Given the description of an element on the screen output the (x, y) to click on. 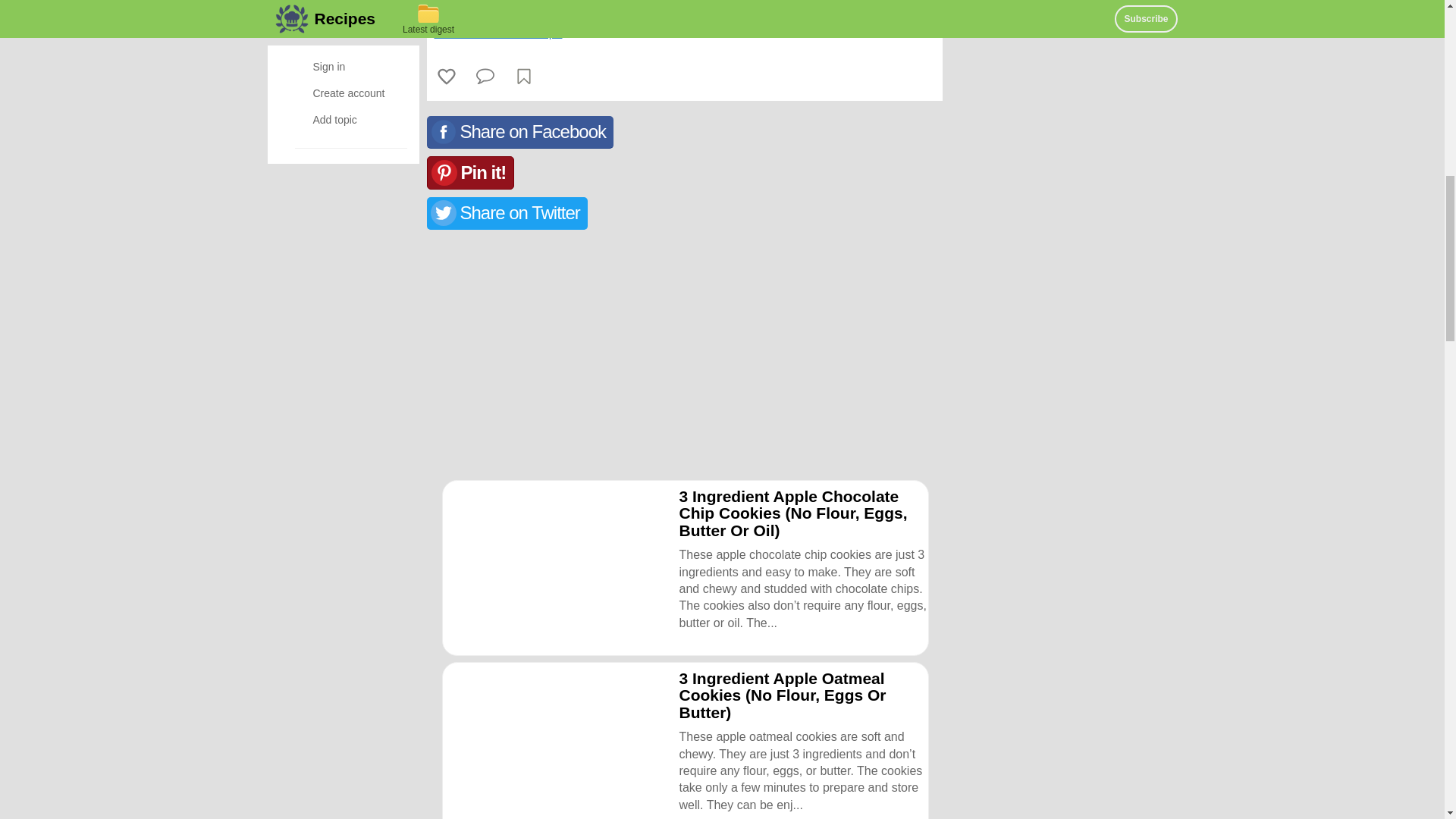
Click here for the recipe (497, 32)
Pin it! (469, 172)
Share on Facebook (519, 132)
